Given the description of an element on the screen output the (x, y) to click on. 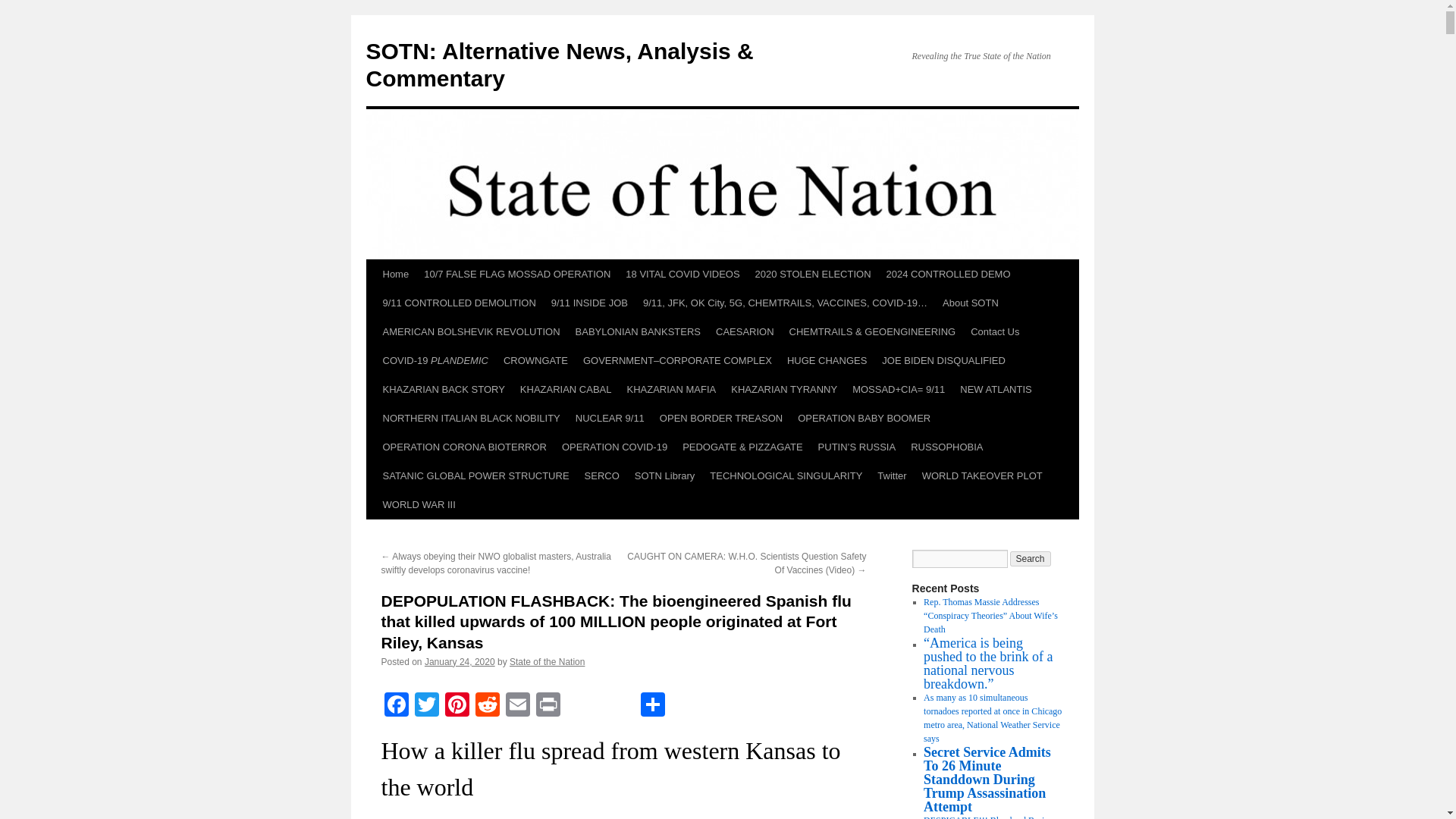
COVID-19 PLANDEMIC (434, 360)
Reddit (486, 706)
KHAZARIAN MAFIA (670, 389)
OPEN BORDER TREASON (721, 418)
Email (517, 706)
CROWNGATE (535, 360)
HUGE CHANGES (826, 360)
Print (547, 706)
JOE BIDEN DISQUALIFIED (944, 360)
18 VITAL COVID VIDEOS (681, 274)
BABYLONIAN BANKSTERS (637, 331)
About SOTN (970, 303)
OPERATION CORONA BIOTERROR (463, 447)
RUSSOPHOBIA (946, 447)
KHAZARIAN CABAL (566, 389)
